Given the description of an element on the screen output the (x, y) to click on. 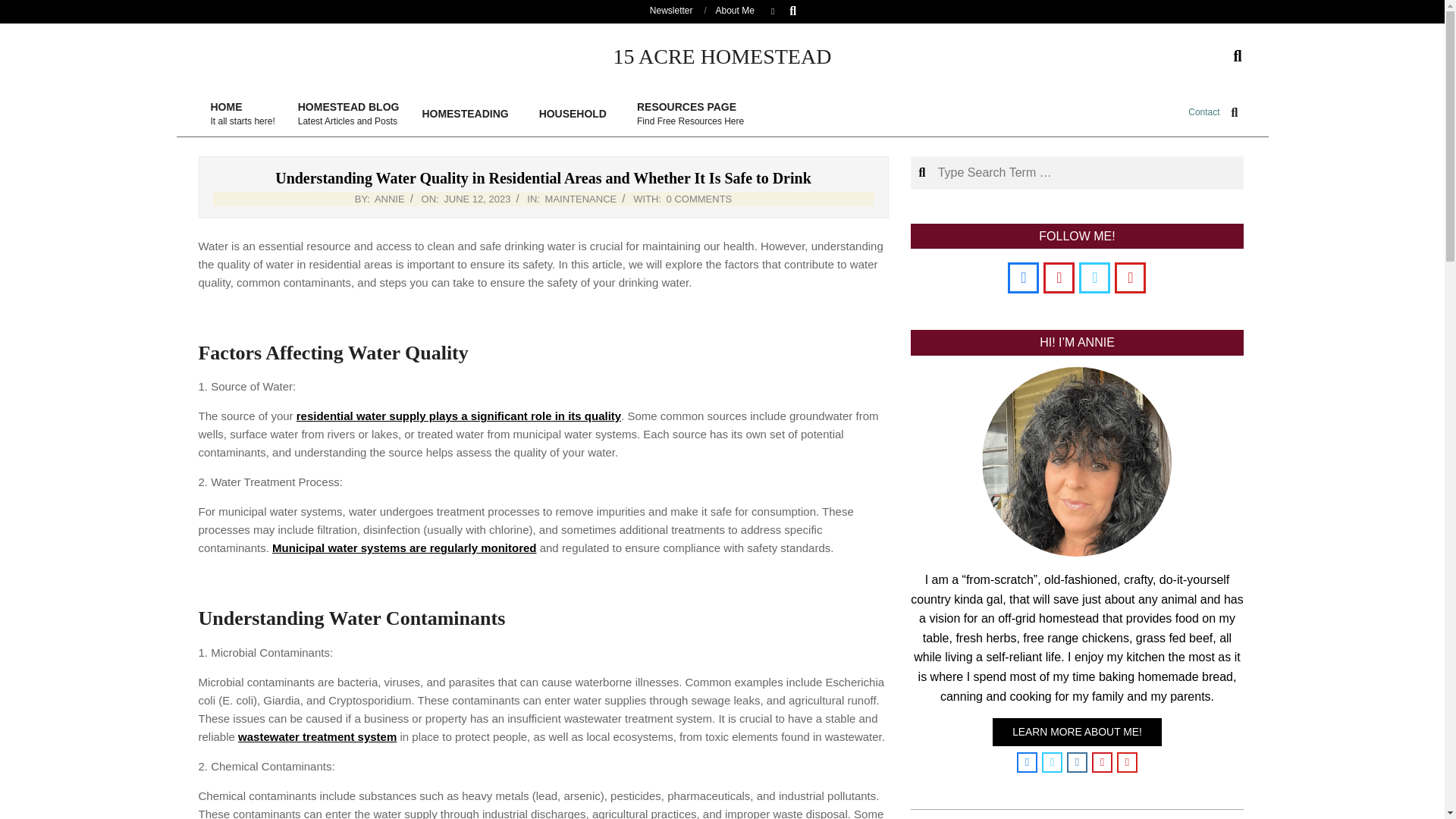
ANNIE (389, 198)
15 ACRE HOMESTEAD (721, 56)
Municipal water systems are regularly monitored (403, 547)
HOUSEHOLD (690, 113)
Search (576, 113)
Newsletter (21, 8)
